Given the description of an element on the screen output the (x, y) to click on. 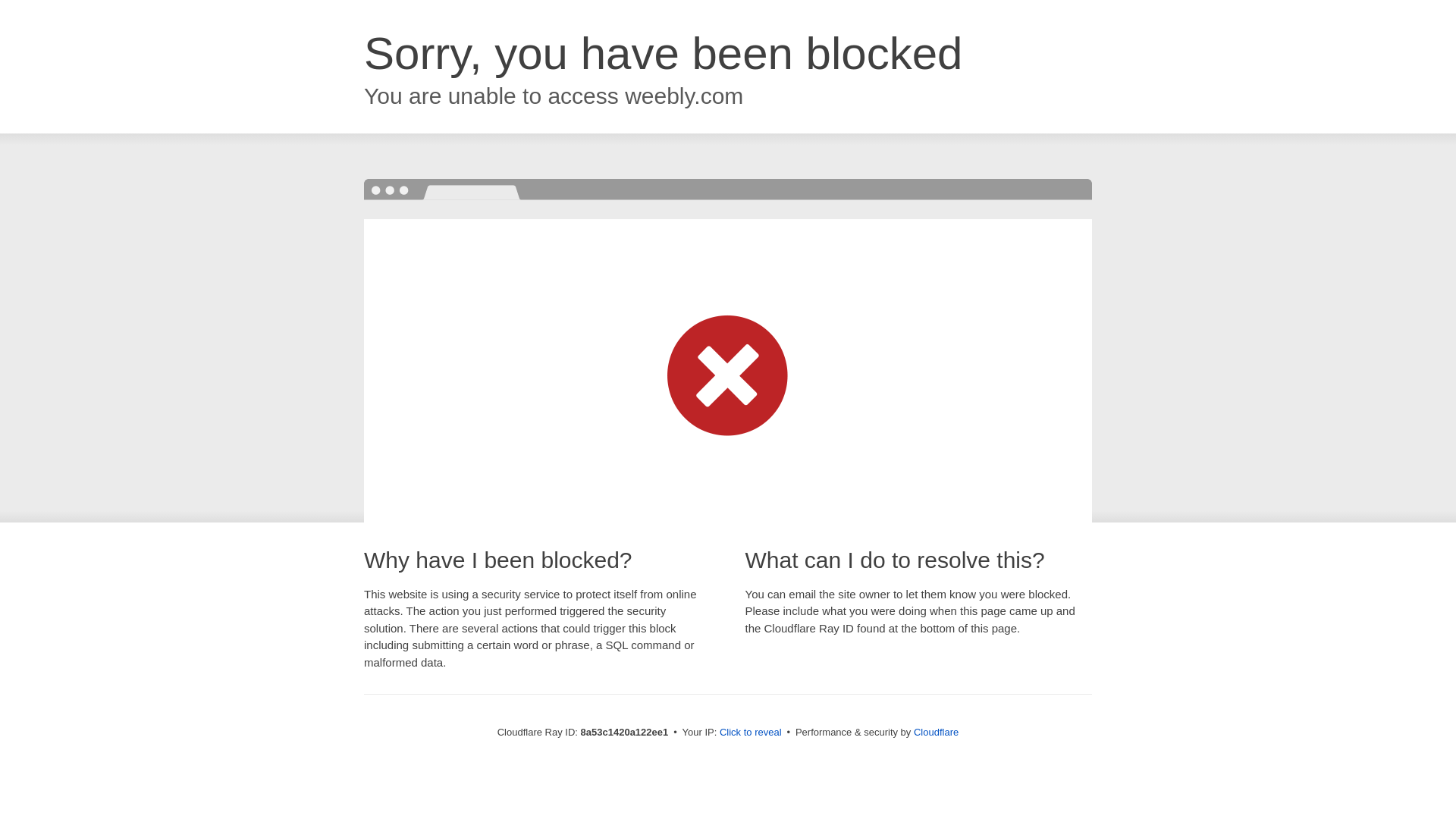
Click to reveal (750, 732)
Cloudflare (936, 731)
